Given the description of an element on the screen output the (x, y) to click on. 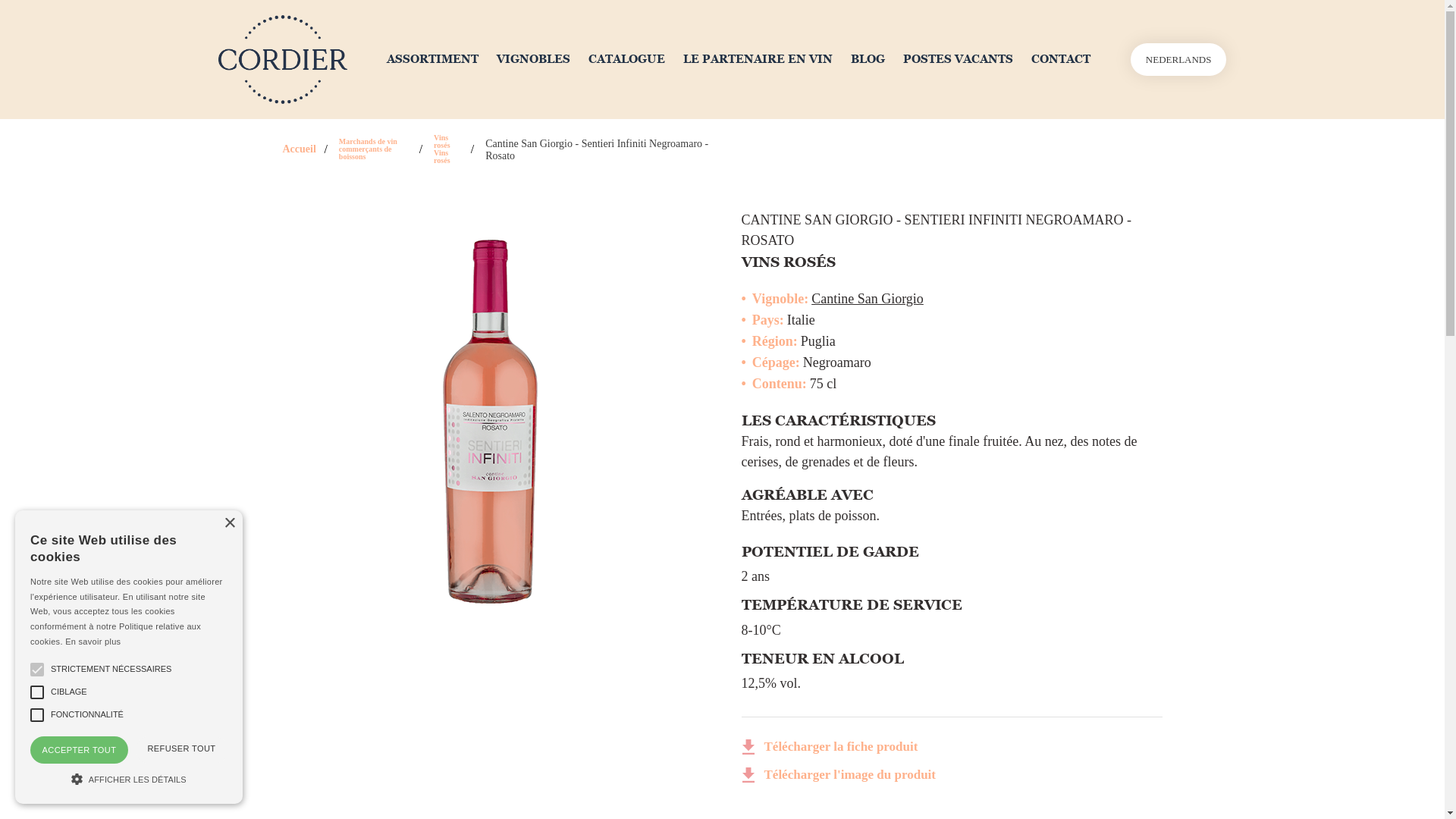
En savoir plus Element type: text (92, 641)
Marchands de vin Element type: text (374, 141)
CONTACT Element type: text (1060, 59)
POSTES VACANTS Element type: text (958, 59)
BLOG Element type: text (867, 59)
LE PARTENAIRE EN VIN Element type: text (757, 59)
Aller au contenu principal Element type: text (0, 0)
NEDERLANDS Element type: text (1178, 59)
VIGNOBLES Element type: text (533, 59)
Accueil Element type: text (298, 149)
Cantine San Giorgio Element type: text (867, 298)
